Given the description of an element on the screen output the (x, y) to click on. 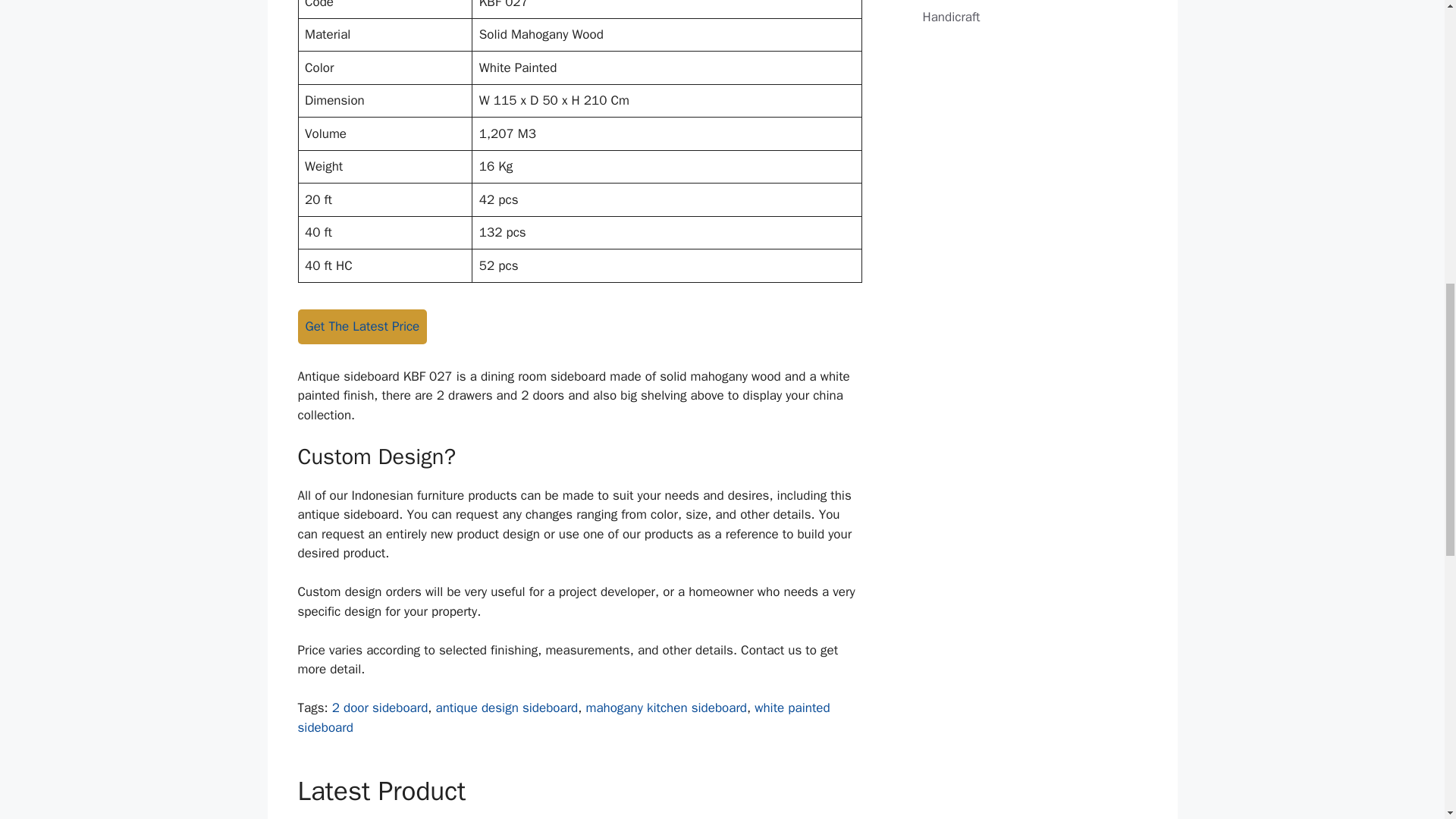
Scroll back to top (1406, 720)
2 door sideboard (379, 707)
mahogany kitchen sideboard (665, 707)
Get The Latest Price (361, 326)
white painted sideboard (563, 717)
antique design sideboard (506, 707)
